Given the description of an element on the screen output the (x, y) to click on. 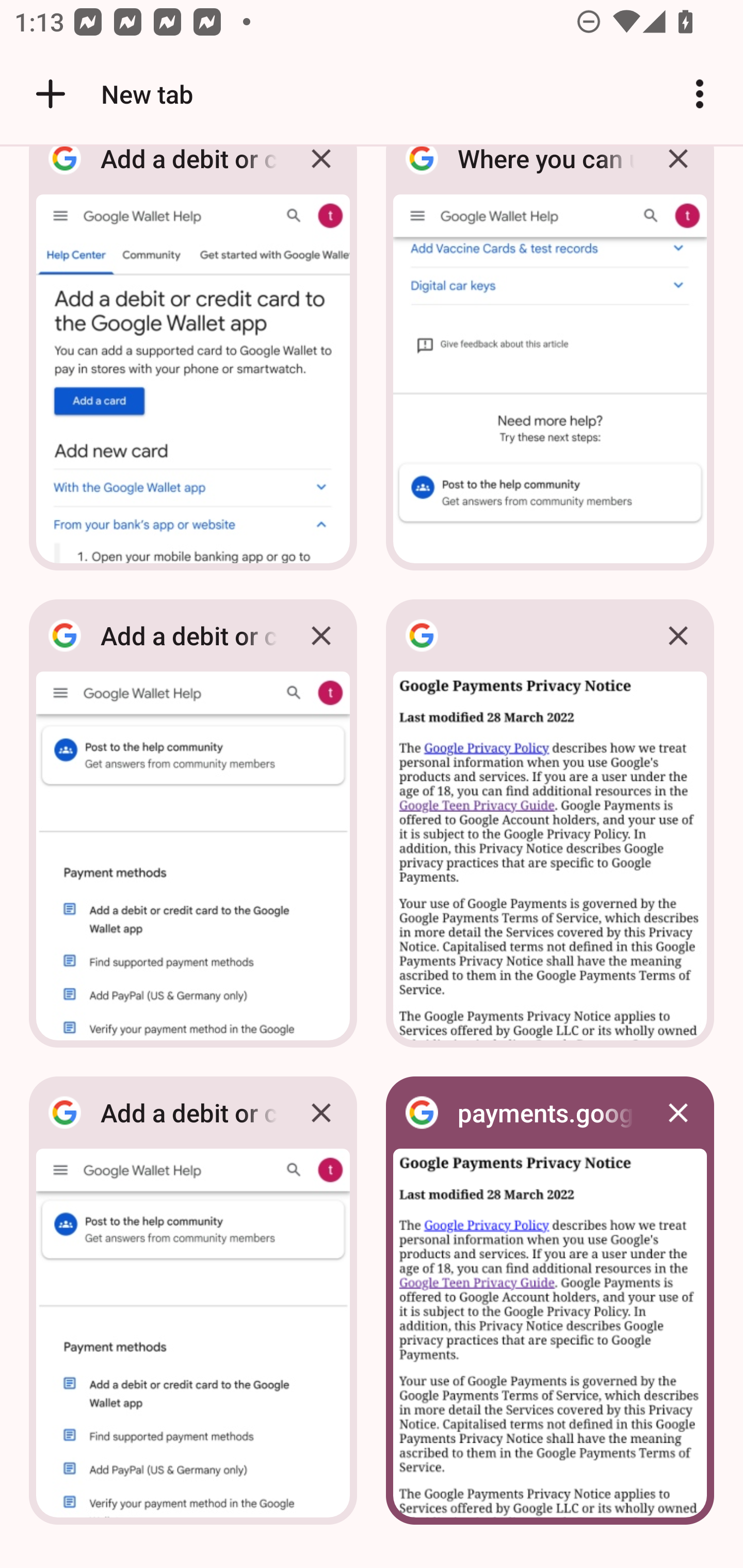
New tab (111, 93)
Customize and control Google Chrome (699, 93)
, tab Close  tab (549, 822)
Close  tab (677, 635)
